Given the description of an element on the screen output the (x, y) to click on. 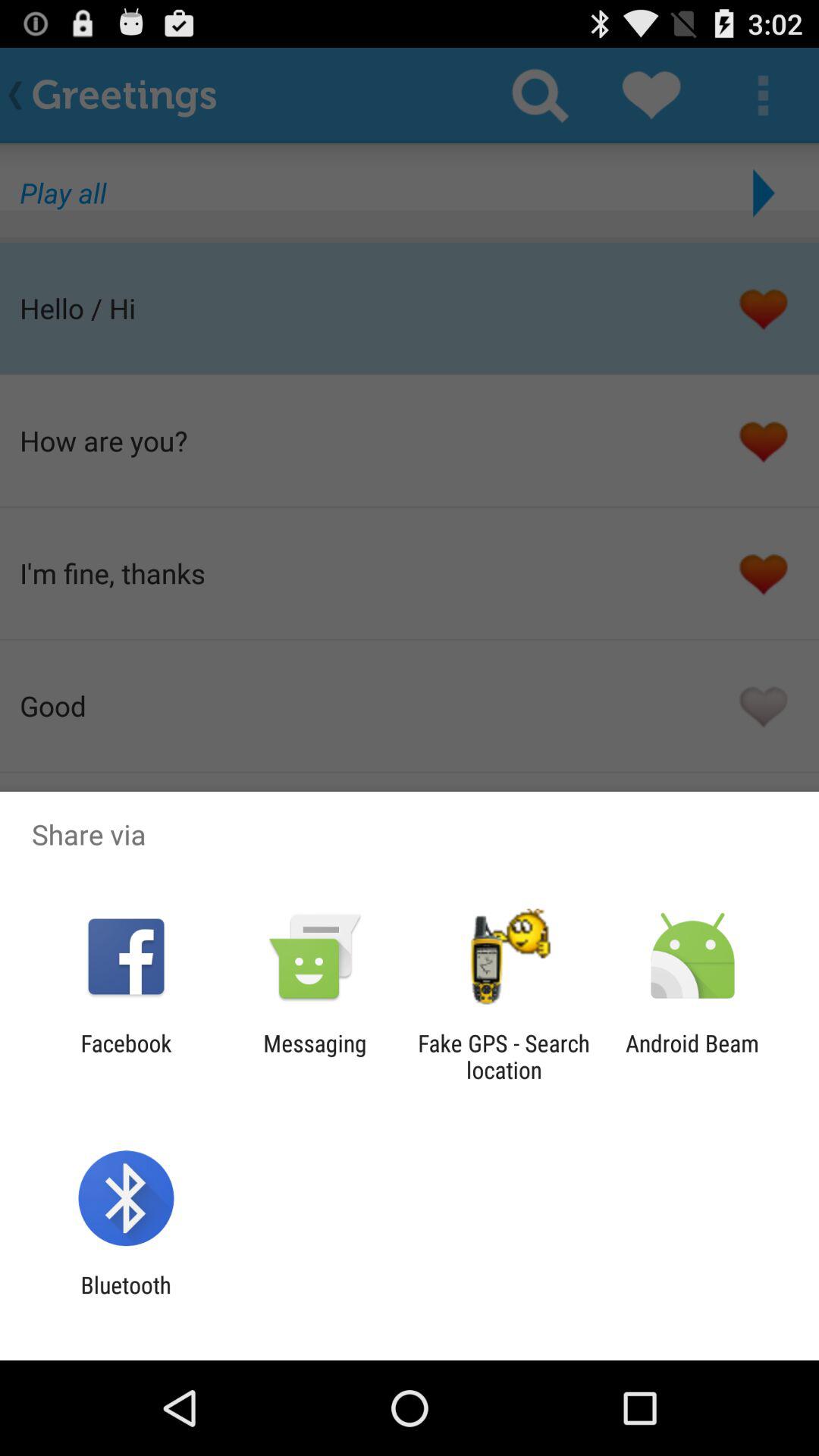
swipe to fake gps search icon (503, 1056)
